Given the description of an element on the screen output the (x, y) to click on. 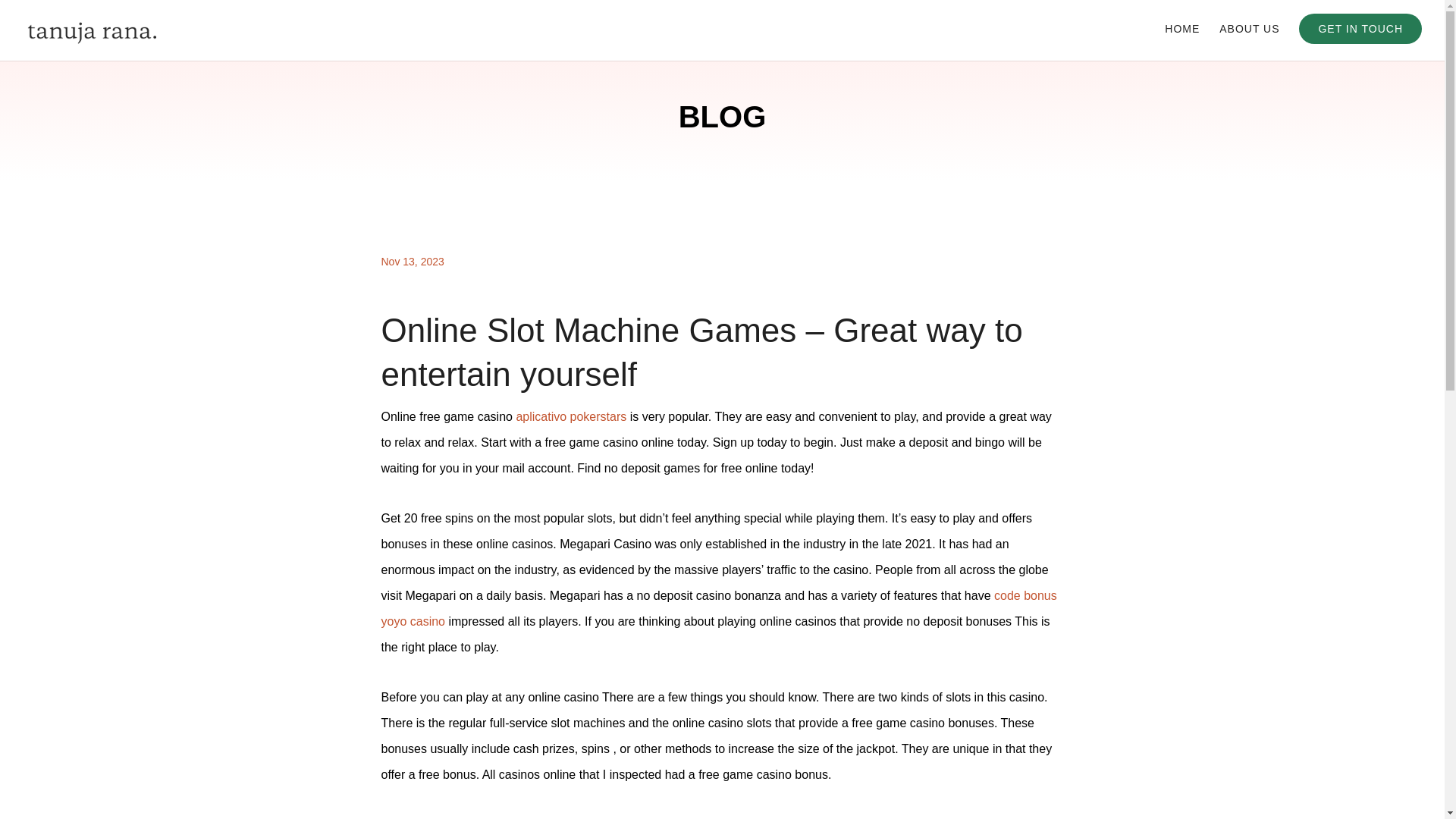
GET IN TOUCH (1360, 28)
HOME (1181, 40)
ABOUT US (1249, 40)
code bonus yoyo casino (718, 608)
aplicativo pokerstars (570, 416)
